Given the description of an element on the screen output the (x, y) to click on. 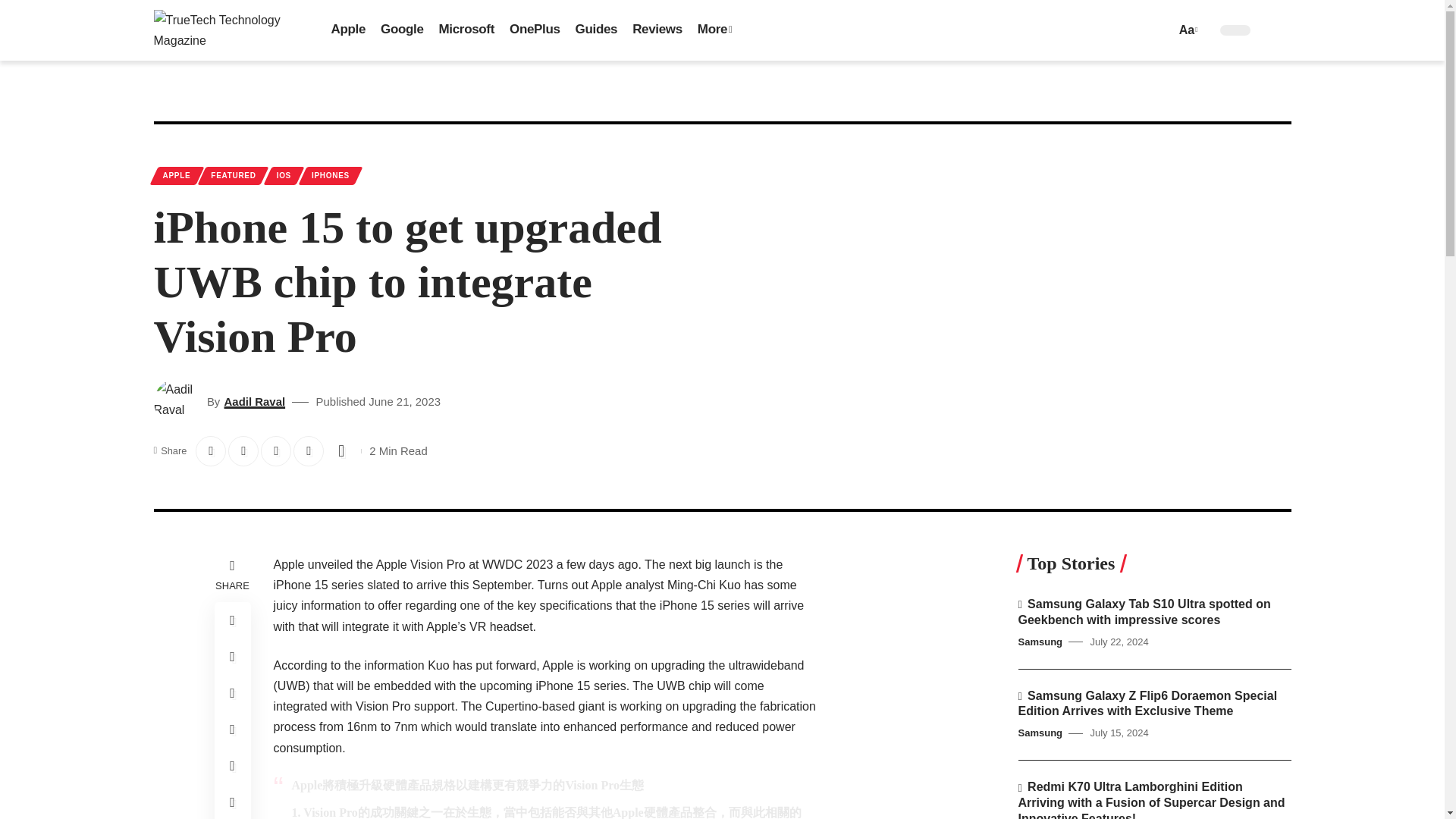
OnePlus (534, 30)
Google (401, 30)
Guides (596, 30)
Microsoft (466, 30)
More (714, 30)
Apple (347, 30)
Reviews (657, 30)
Aa (1186, 29)
